Given the description of an element on the screen output the (x, y) to click on. 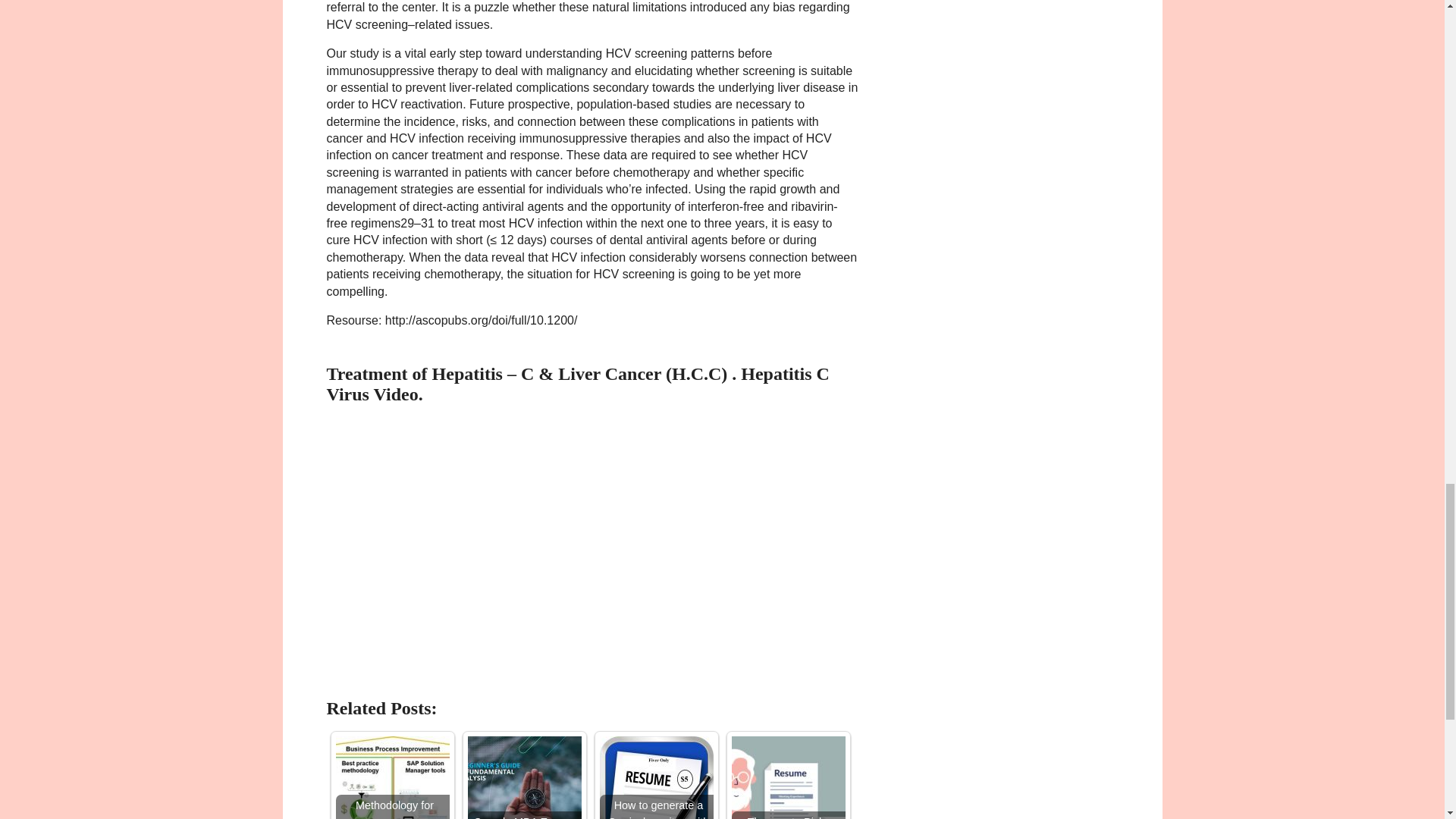
How to generate a Curriculum vitae with Search engines Docs (655, 777)
The way to Pick a Career (787, 777)
How to generate a Curriculum vitae with Search engines Docs (655, 777)
The way to Pick a Career (787, 777)
